Given the description of an element on the screen output the (x, y) to click on. 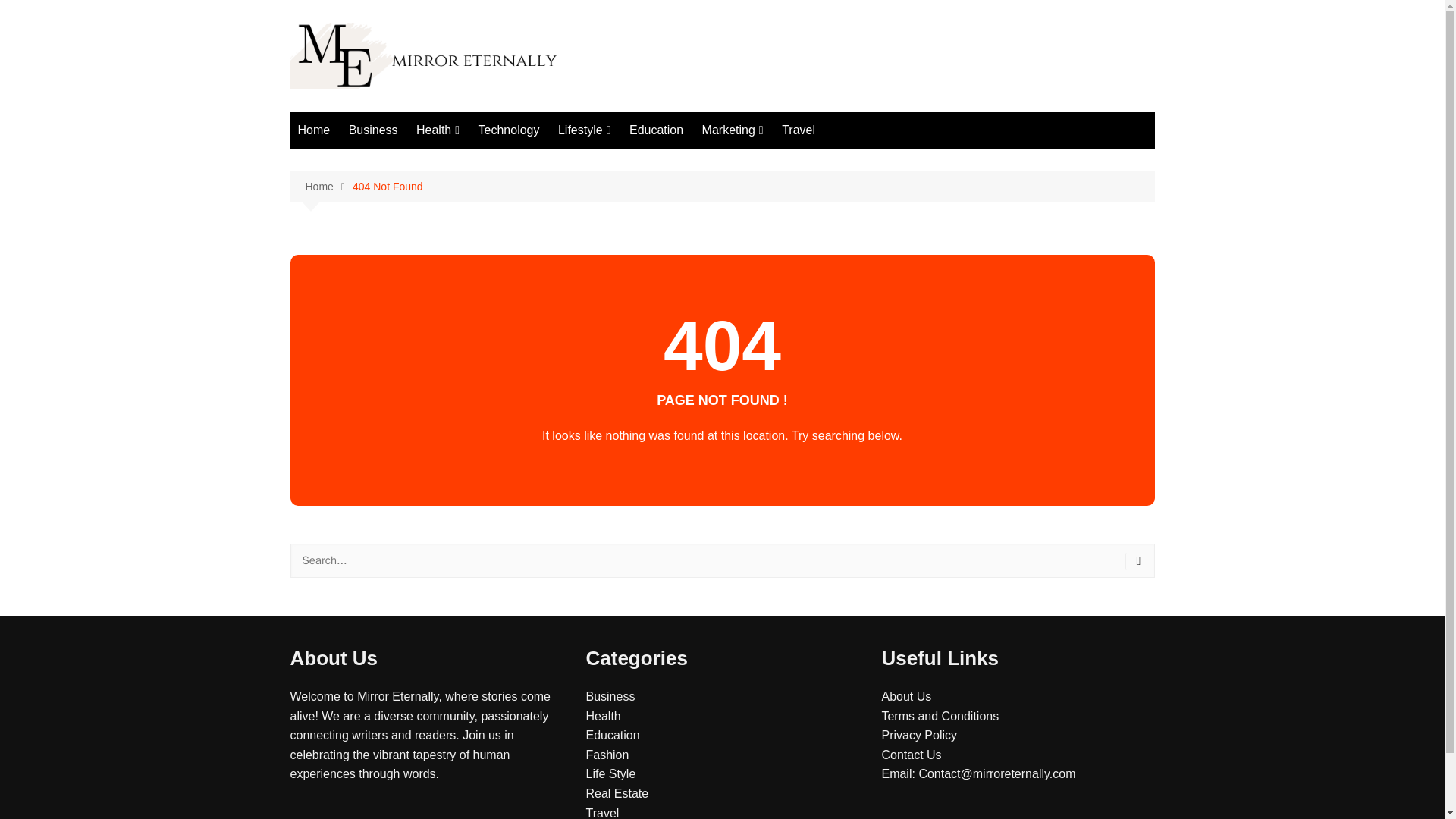
Fashion (633, 160)
Food (492, 160)
Home (313, 130)
Travel (798, 130)
Terms and Conditions (939, 716)
Lifestyle (584, 130)
404 Not Found (387, 186)
Contact Us (910, 754)
Technology (508, 130)
Real Estate (777, 160)
Marketing (732, 130)
Business (609, 696)
About Us (905, 696)
Education (655, 130)
Health (438, 130)
